Given the description of an element on the screen output the (x, y) to click on. 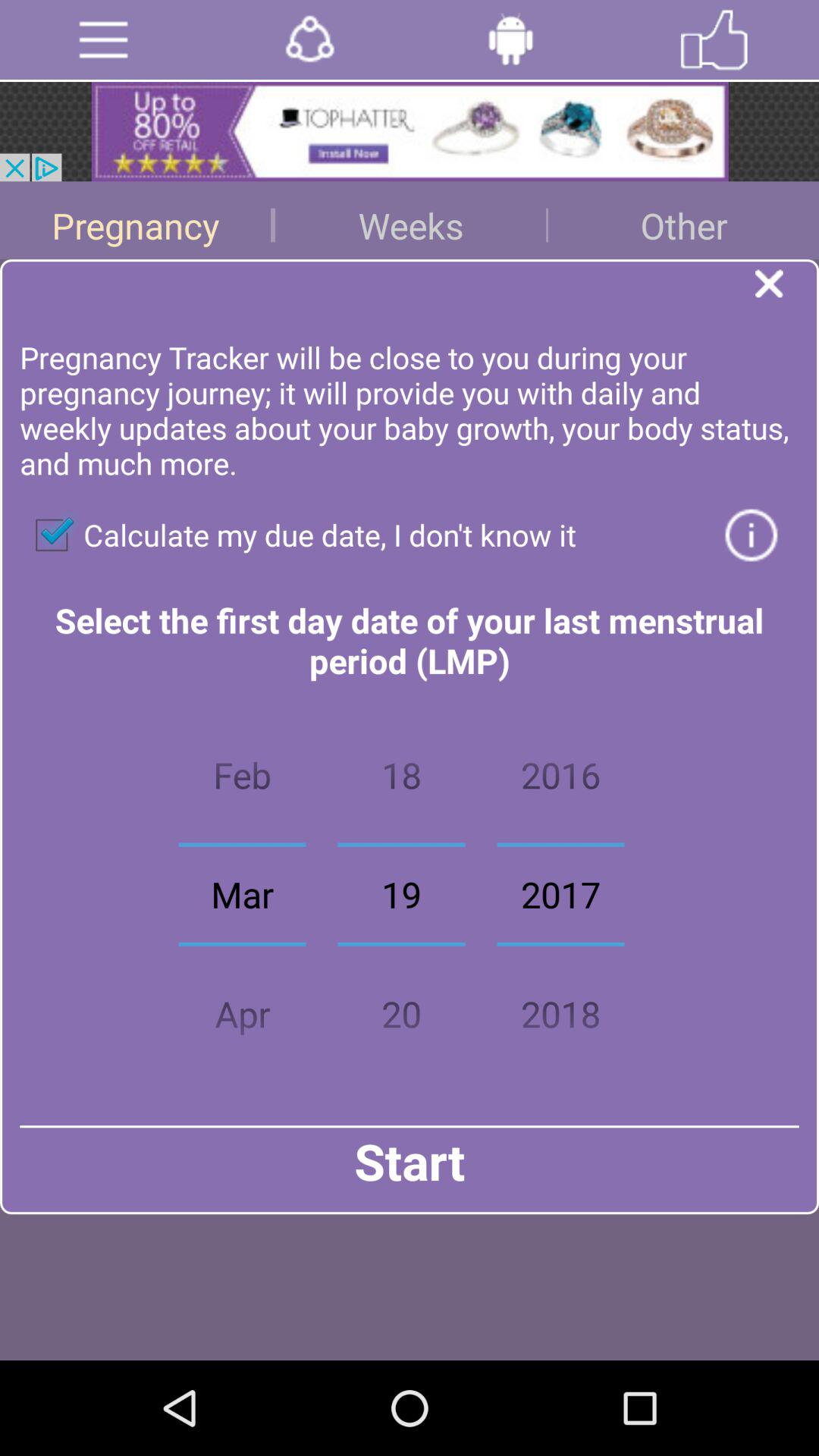
kaai (714, 39)
